Given the description of an element on the screen output the (x, y) to click on. 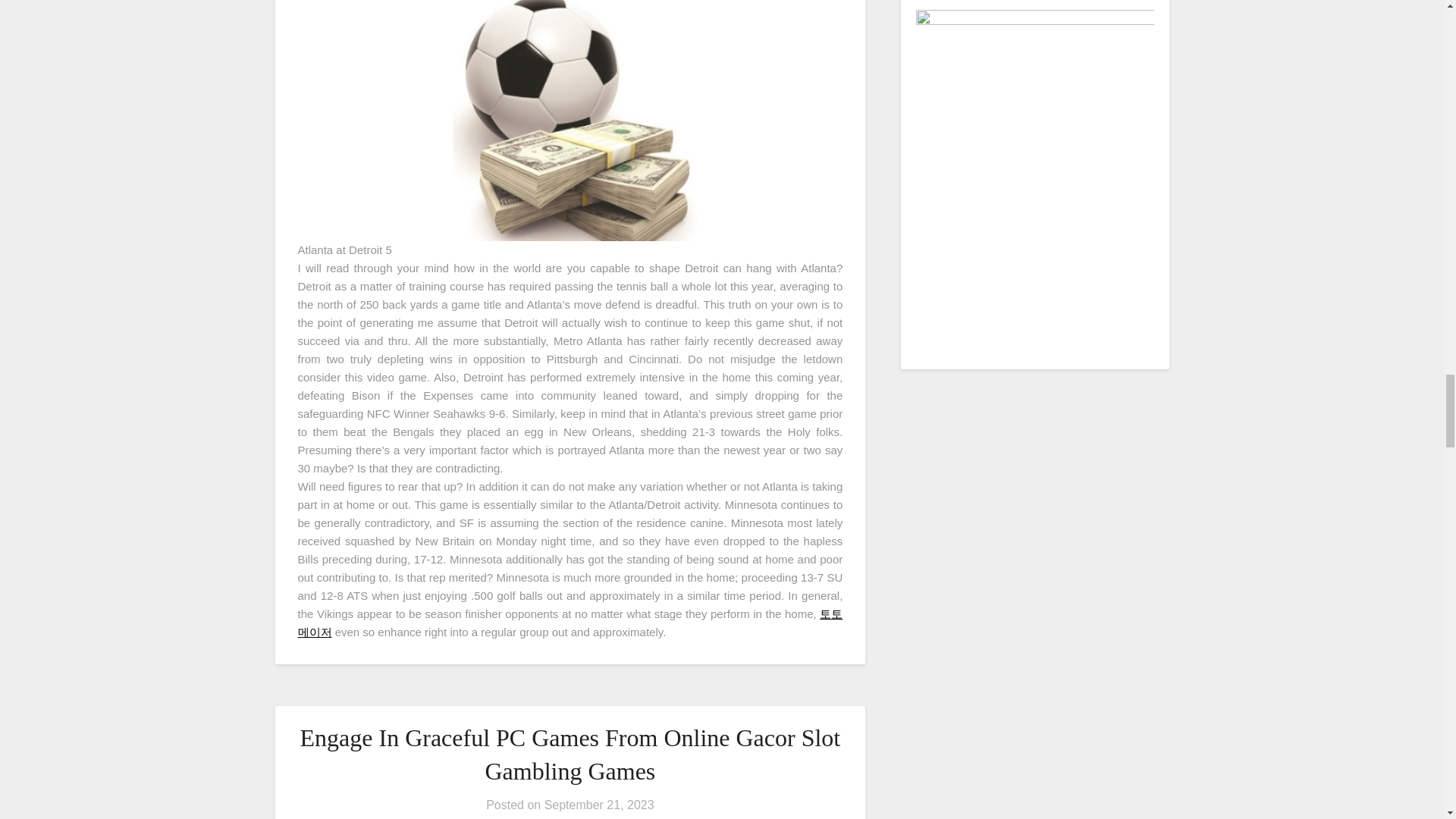
September 21, 2023 (598, 804)
